Given the description of an element on the screen output the (x, y) to click on. 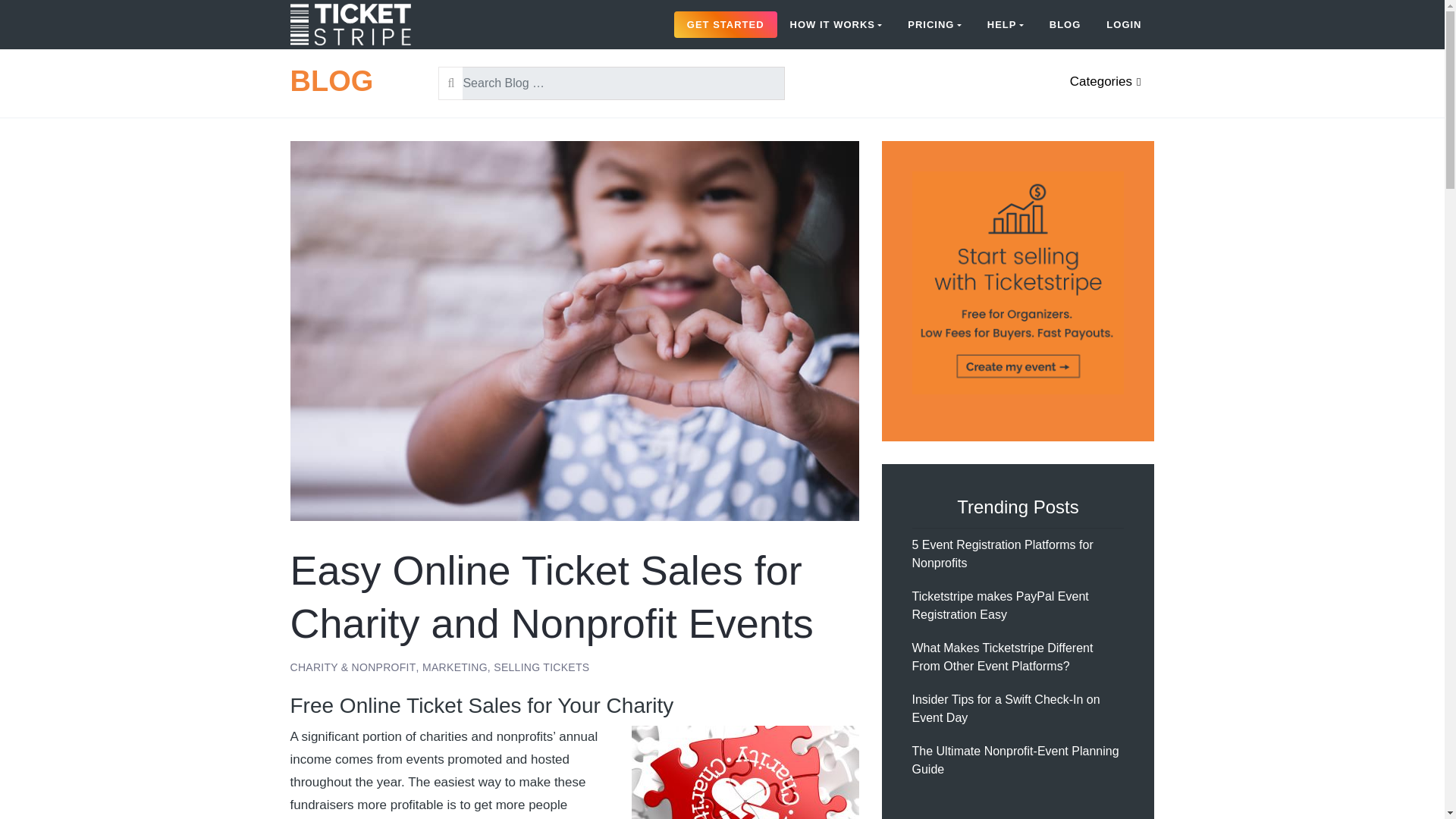
Pricing (934, 24)
GET STARTED (725, 24)
Blog (1065, 24)
BLOG (330, 81)
LOGIN (1123, 24)
HELP (1005, 24)
Get Started (725, 24)
Help (1005, 24)
PRICING (934, 24)
How It Works (836, 24)
